Given the description of an element on the screen output the (x, y) to click on. 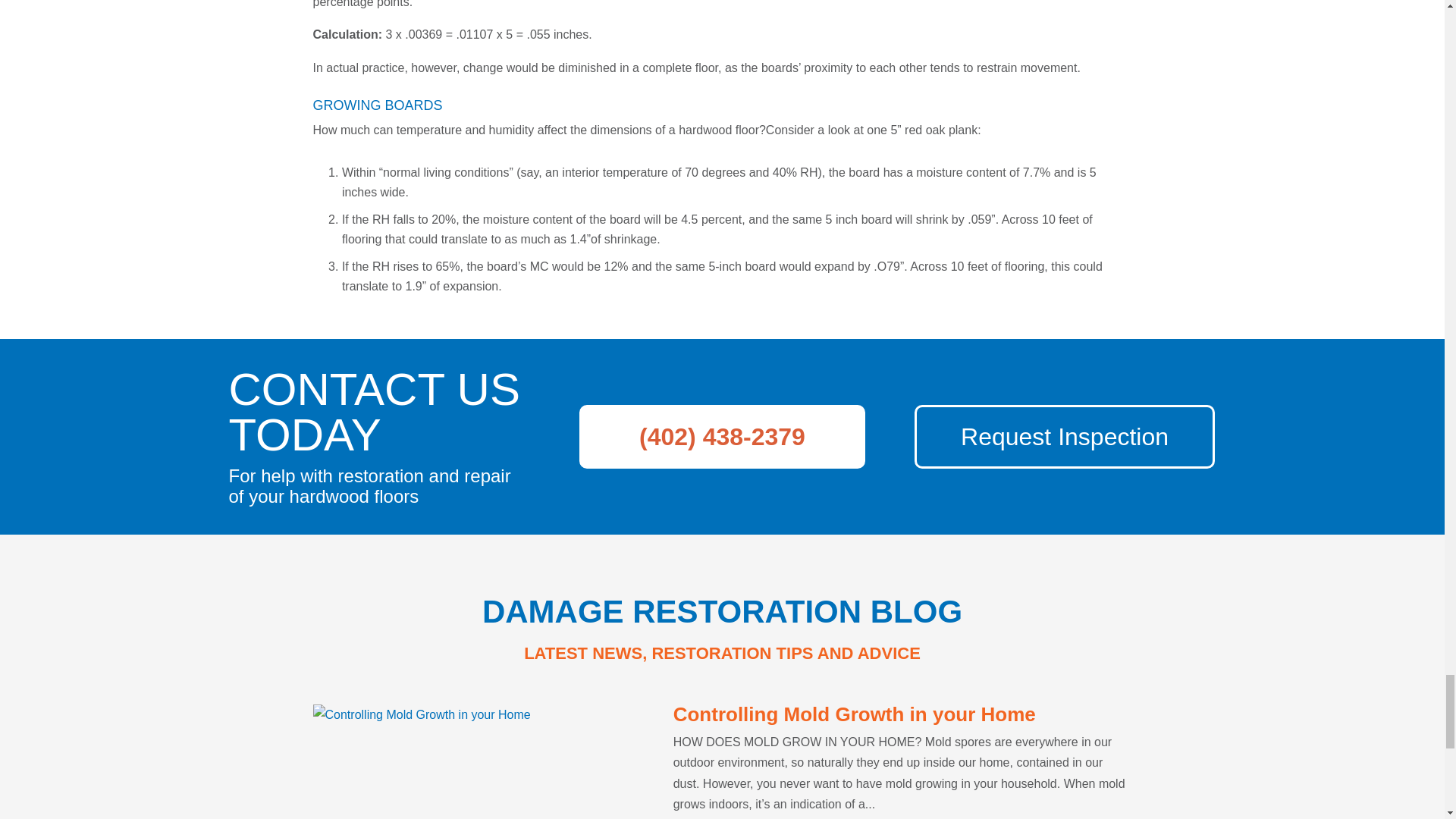
Request Inspection (1064, 436)
Controlling Mold Growth in your Home (853, 713)
